Given the description of an element on the screen output the (x, y) to click on. 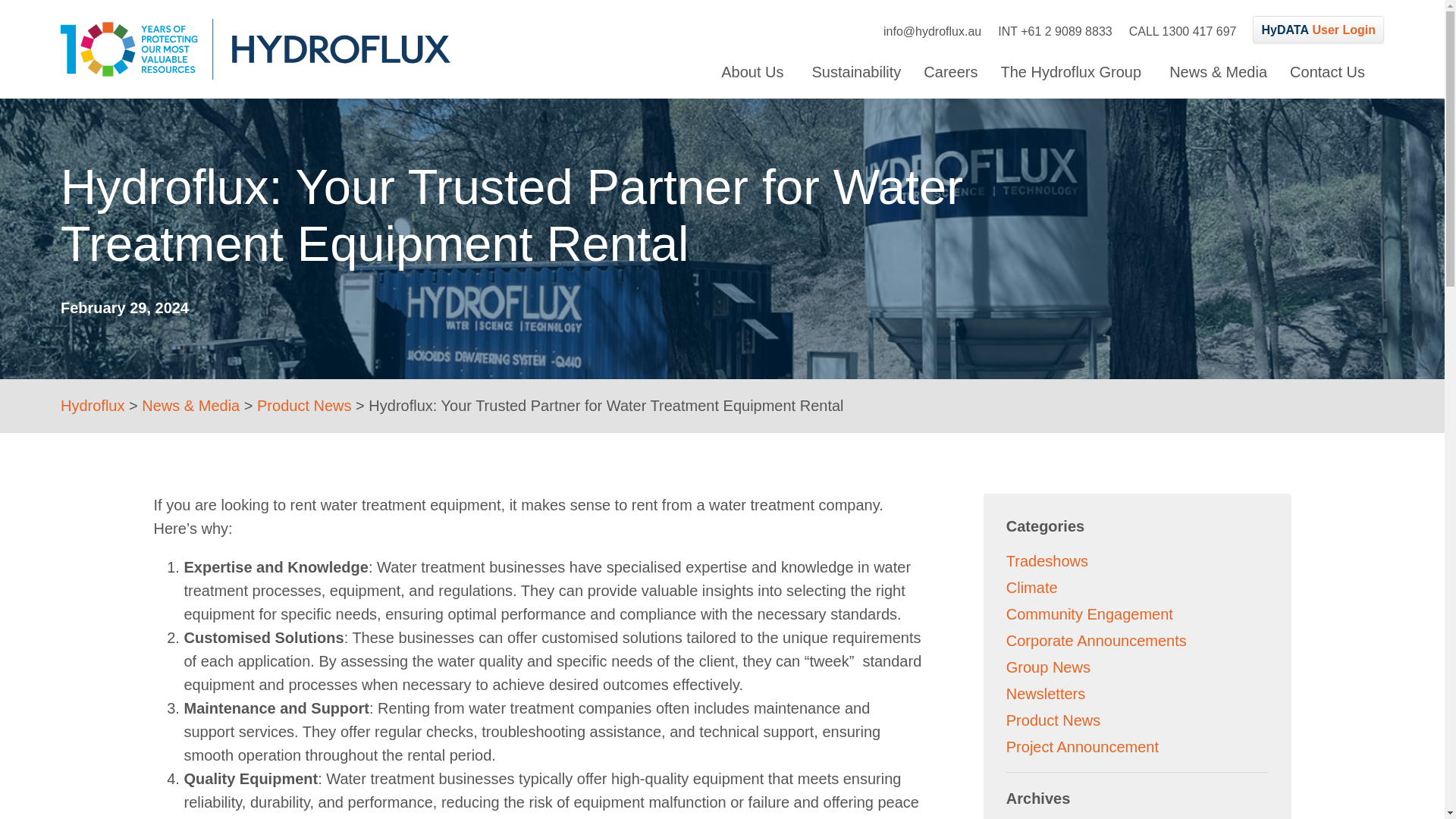
Search (863, 162)
Go to the Product News Category archives. (304, 405)
CALL 1300 417 697 (1182, 31)
Go to Hydroflux. (92, 405)
About Us (1318, 28)
The Hydroflux Group (754, 71)
Sustainability (1073, 71)
Careers (855, 71)
Contact Us (949, 71)
